Given the description of an element on the screen output the (x, y) to click on. 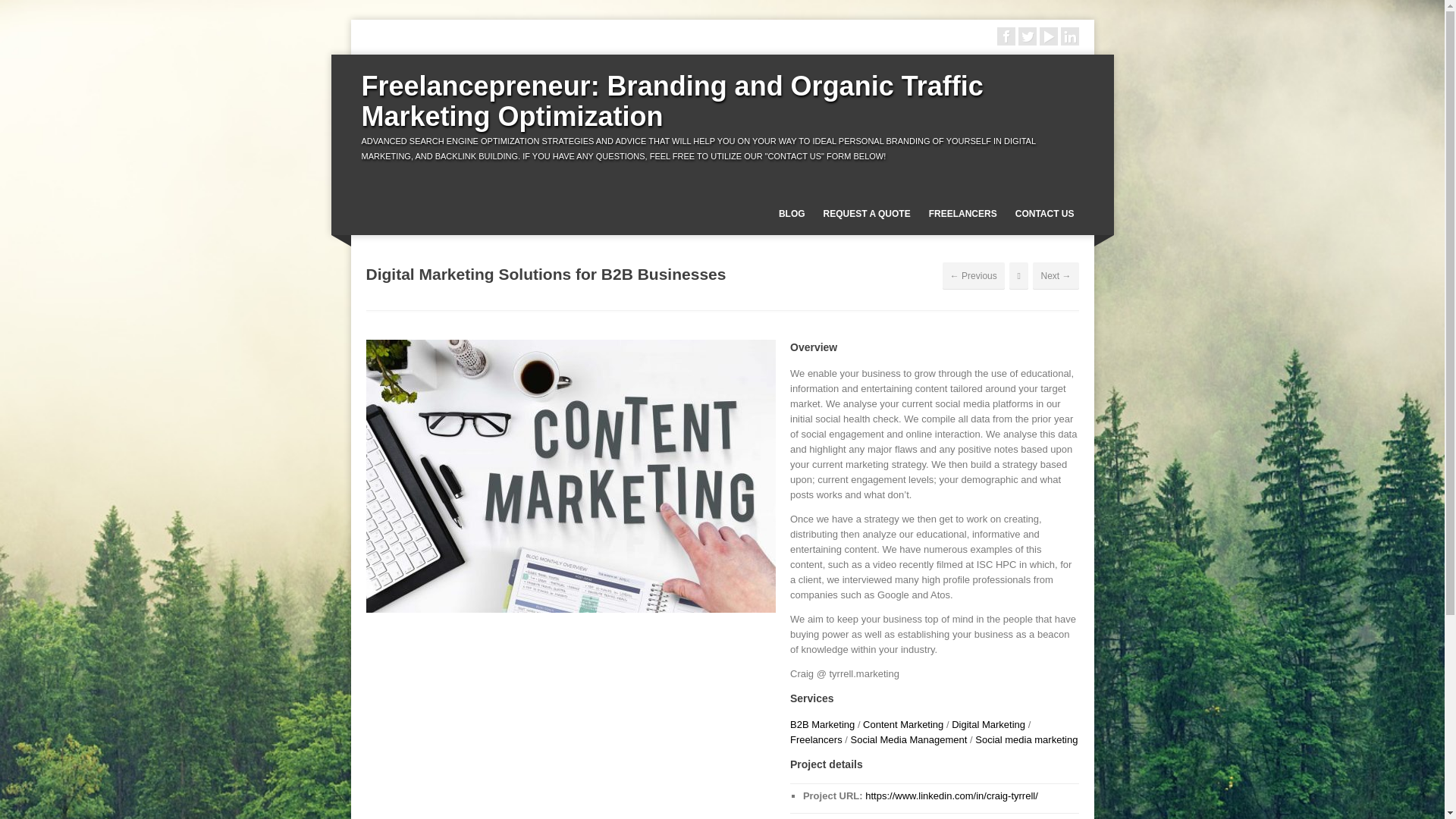
Content Marketing (903, 724)
Freelancers (816, 739)
Digital Marketing (988, 724)
REQUEST A QUOTE (866, 213)
Social media marketing (1026, 739)
Social Media Management (908, 739)
Follow me on linkedin (1068, 36)
B2B Marketing (822, 724)
Follow me on fb (1004, 36)
Follow me on twitter (1026, 36)
Follow me on youtube (1048, 36)
BLOG (791, 213)
FREELANCERS (963, 213)
